Given the description of an element on the screen output the (x, y) to click on. 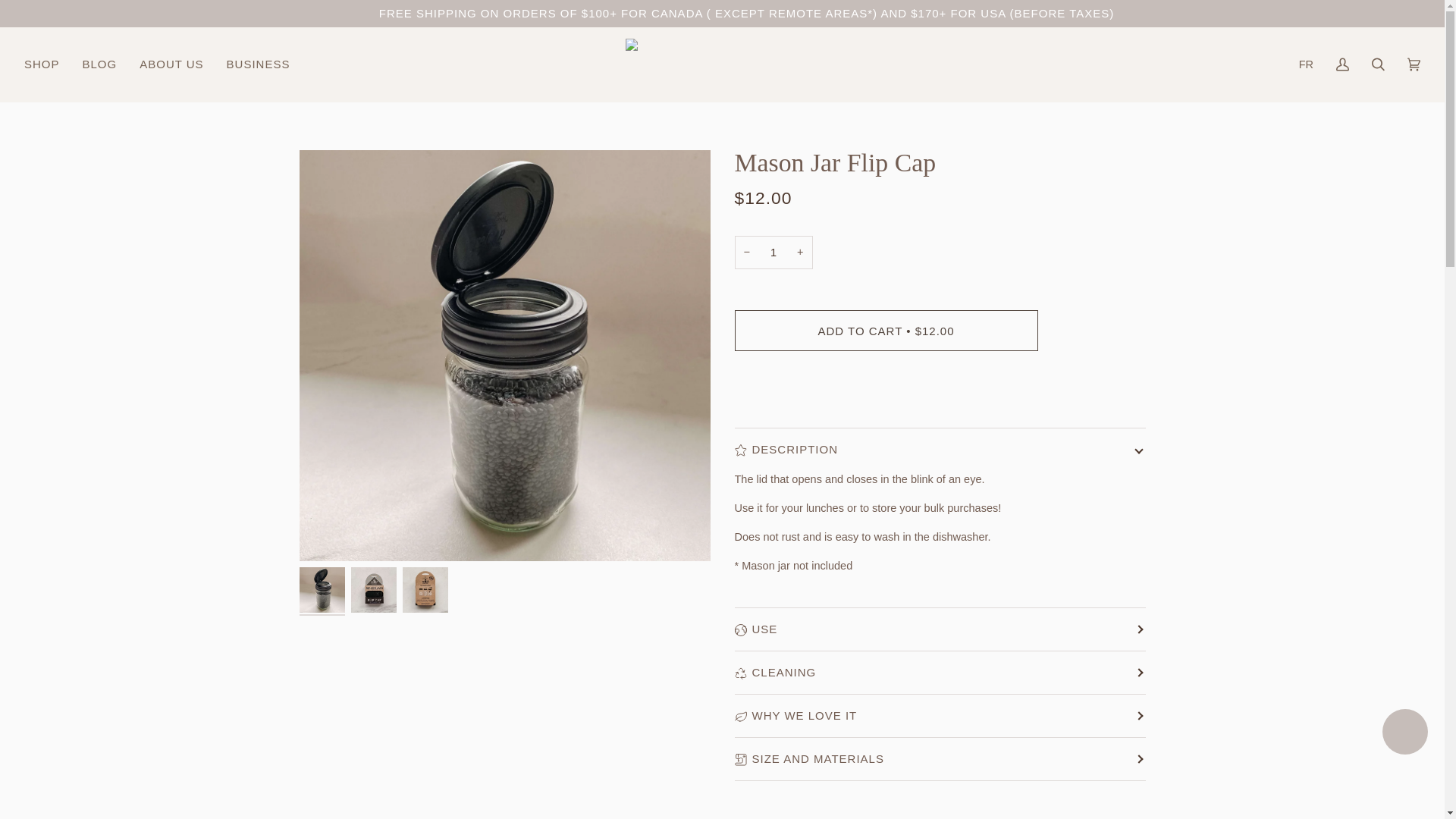
1 (772, 252)
BUSINESS (258, 64)
ABOUT US (171, 64)
Shopify online store chat (1404, 733)
